Given the description of an element on the screen output the (x, y) to click on. 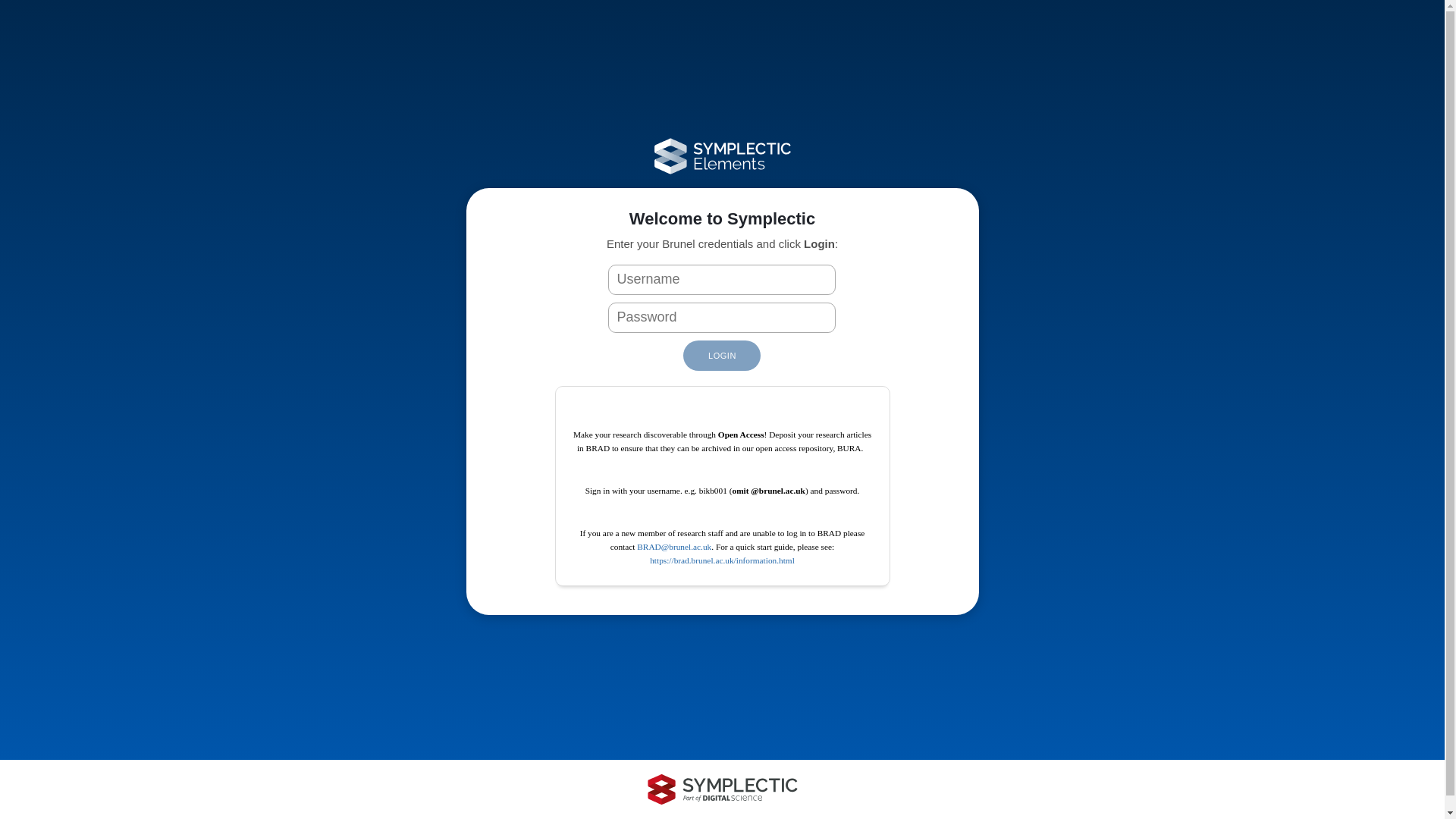
LOGIN (721, 355)
